Given the description of an element on the screen output the (x, y) to click on. 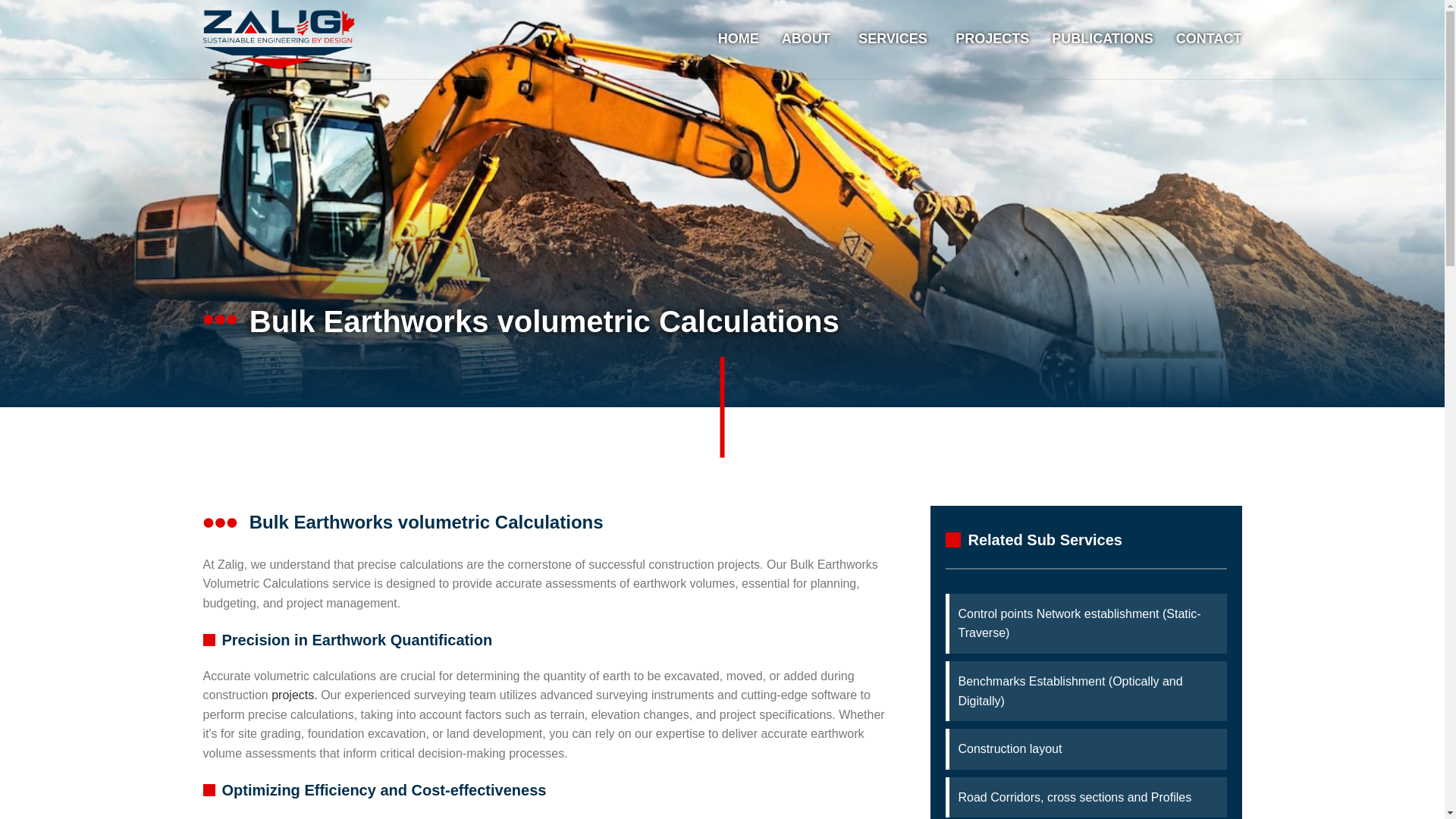
PUBLICATIONS (1102, 39)
projects. (293, 694)
CONTACT (1208, 39)
ABOUT (808, 39)
Construction layout (1087, 749)
SERVICES (896, 39)
Road Corridors, cross sections and Profiles (1087, 797)
HOME (737, 39)
PROJECTS (992, 39)
